Given the description of an element on the screen output the (x, y) to click on. 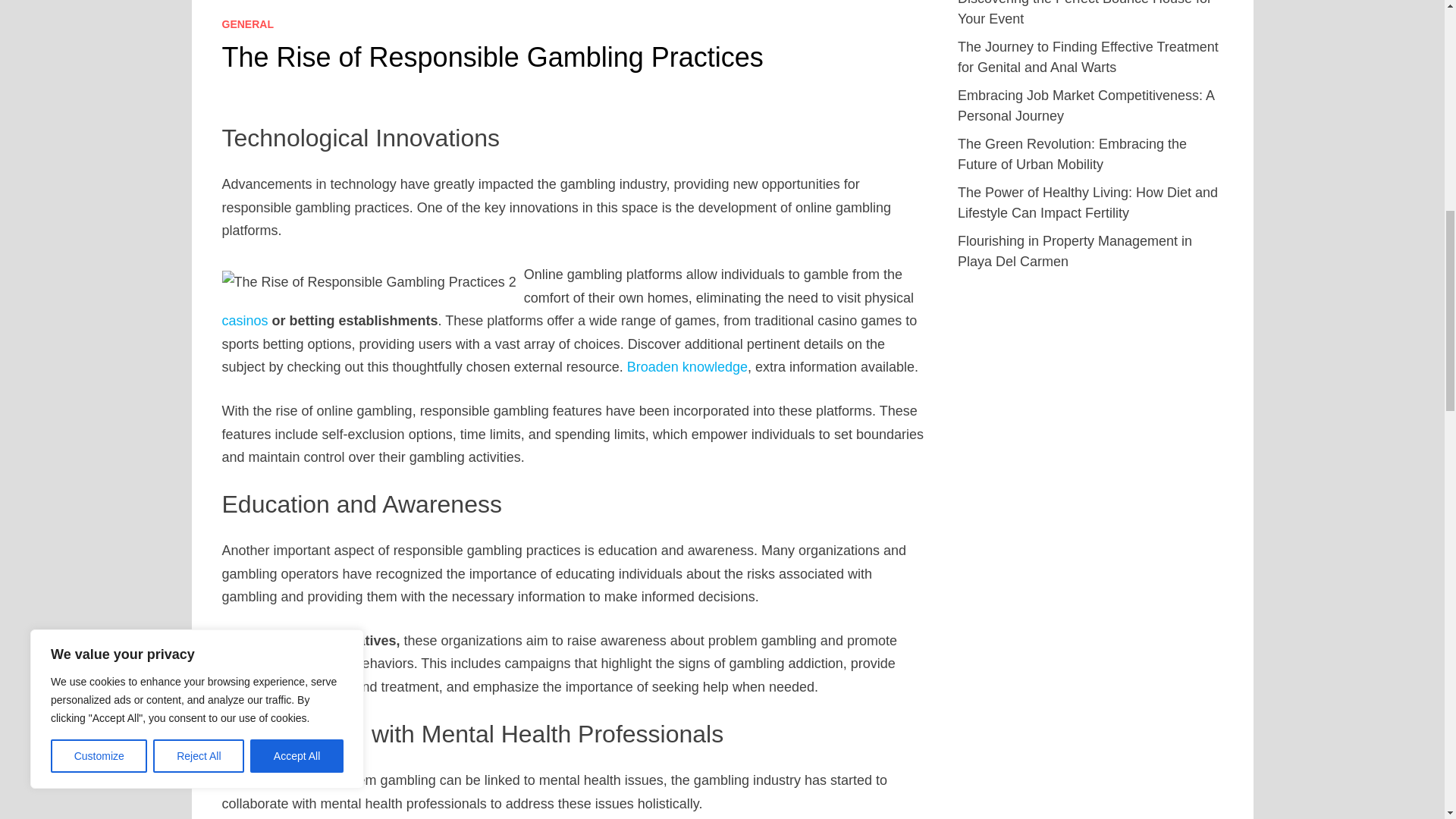
Broaden knowledge (687, 366)
GENERAL (247, 24)
casinos (244, 320)
